Given the description of an element on the screen output the (x, y) to click on. 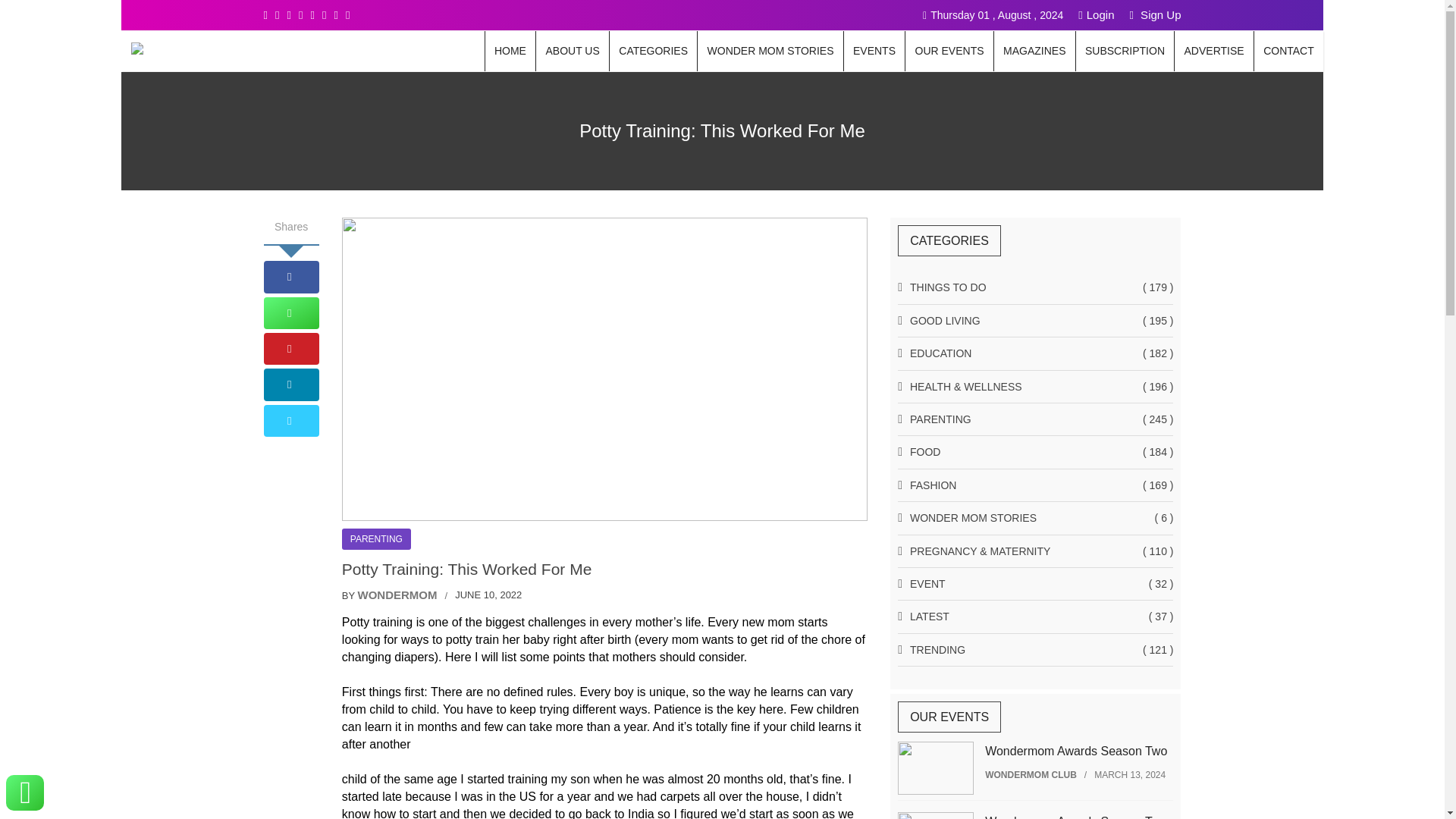
EVENTS (874, 51)
WONDERMOM (398, 594)
CATEGORIES (653, 51)
Sign Up (1154, 14)
OUR EVENTS (948, 51)
HOME (509, 51)
MAGAZINES (1034, 51)
WONDER MOM STORIES (770, 51)
Login (1095, 14)
SUBSCRIPTION (1124, 51)
PARENTING (376, 538)
ABOUT US (571, 51)
